Given the description of an element on the screen output the (x, y) to click on. 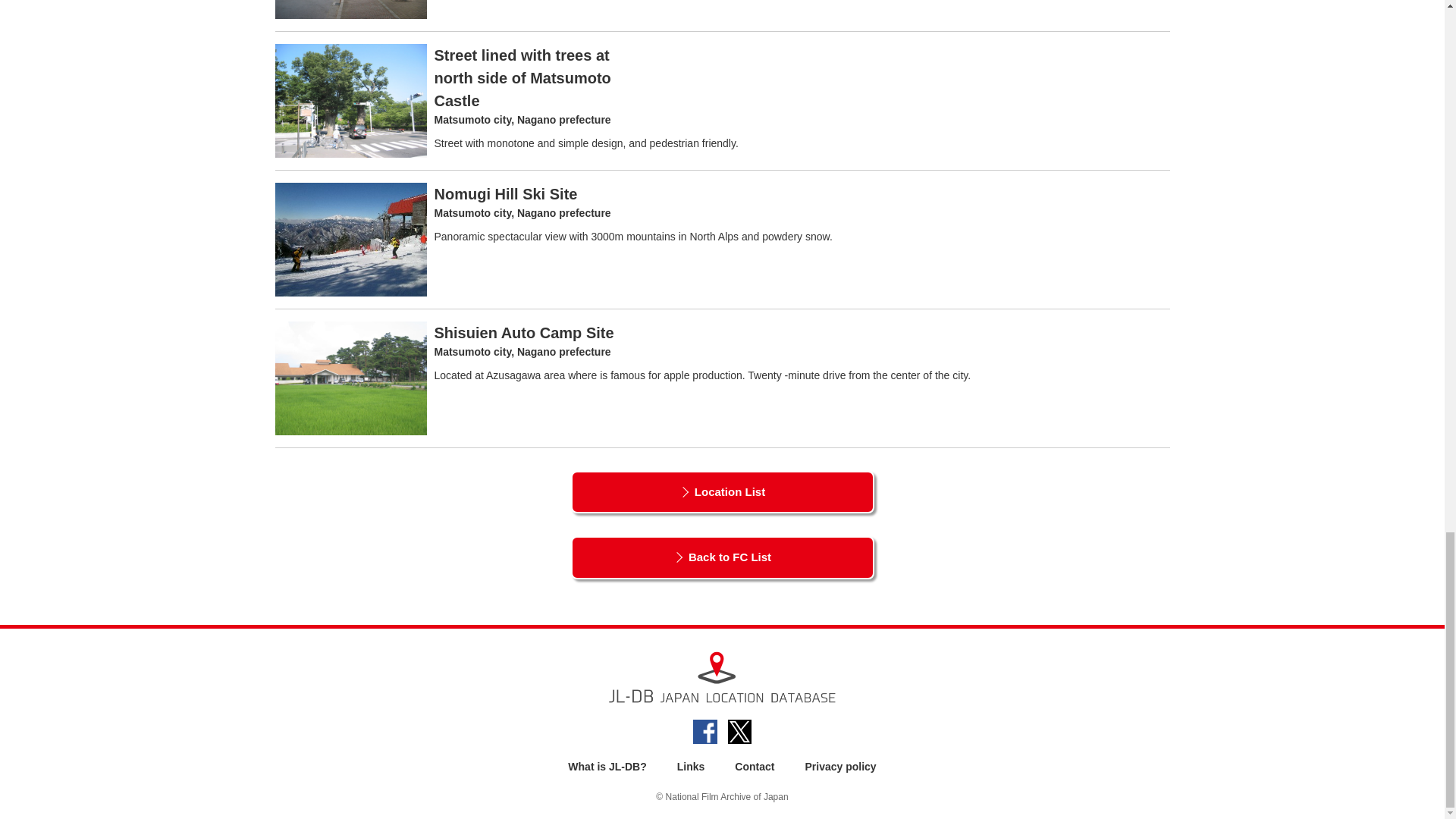
Privacy policy (840, 766)
Location List (721, 492)
Contact (754, 766)
Back to FC List (721, 557)
Links (690, 766)
What is JL-DB? (606, 766)
